Given the description of an element on the screen output the (x, y) to click on. 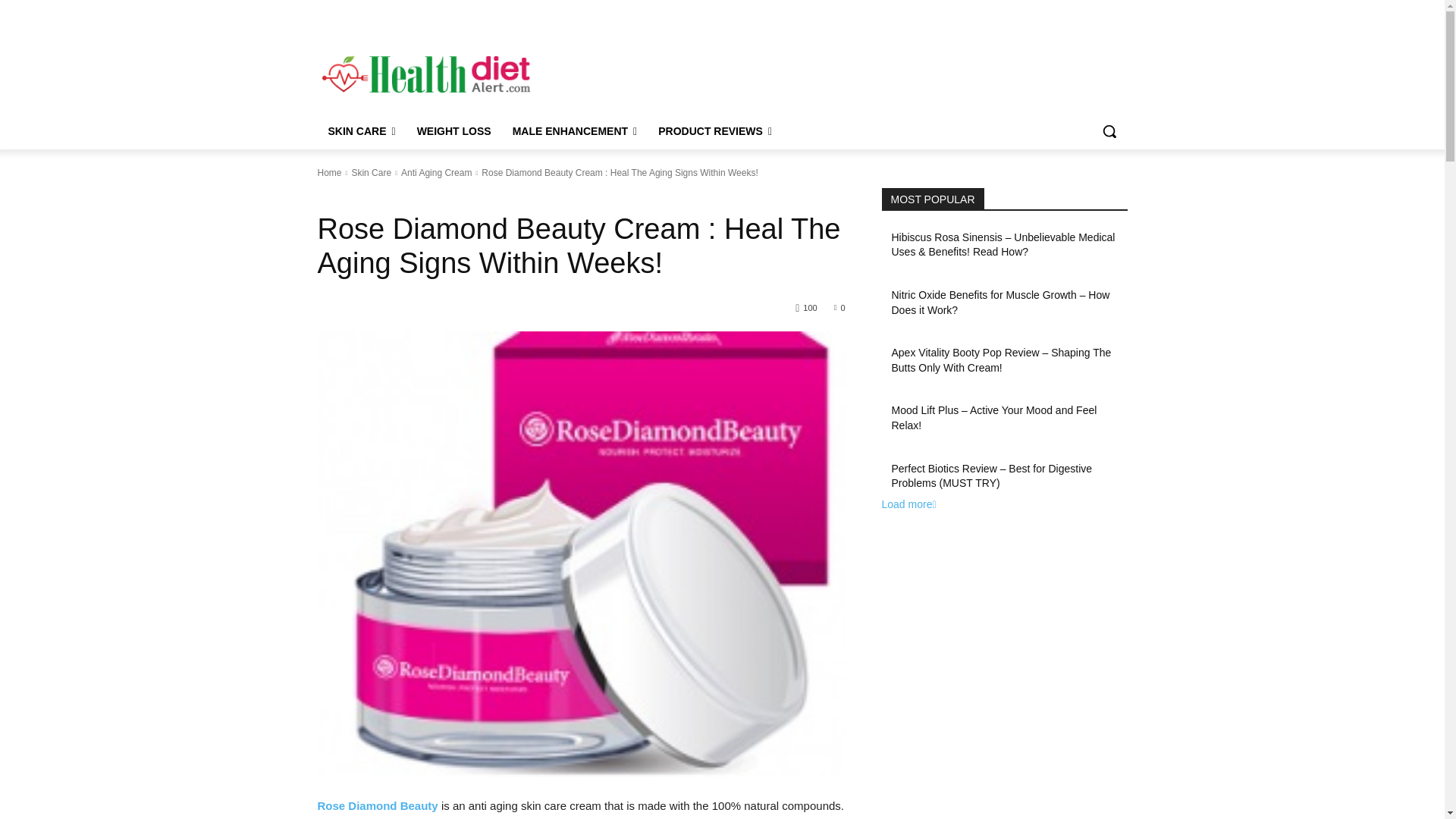
View all posts in Skin Care (370, 172)
About Us (333, 10)
0 (839, 307)
Home (328, 172)
Contact Us (434, 10)
Disclaimer (383, 10)
WEIGHT LOSS (454, 131)
MALE ENHANCEMENT (574, 131)
SKIN CARE (361, 131)
